Given the description of an element on the screen output the (x, y) to click on. 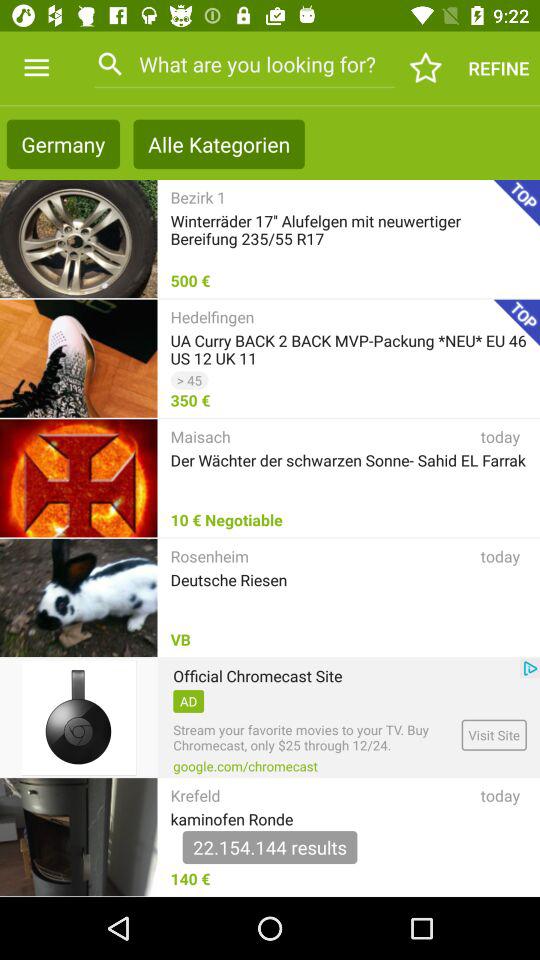
click item next to stream your favorite icon (493, 734)
